Given the description of an element on the screen output the (x, y) to click on. 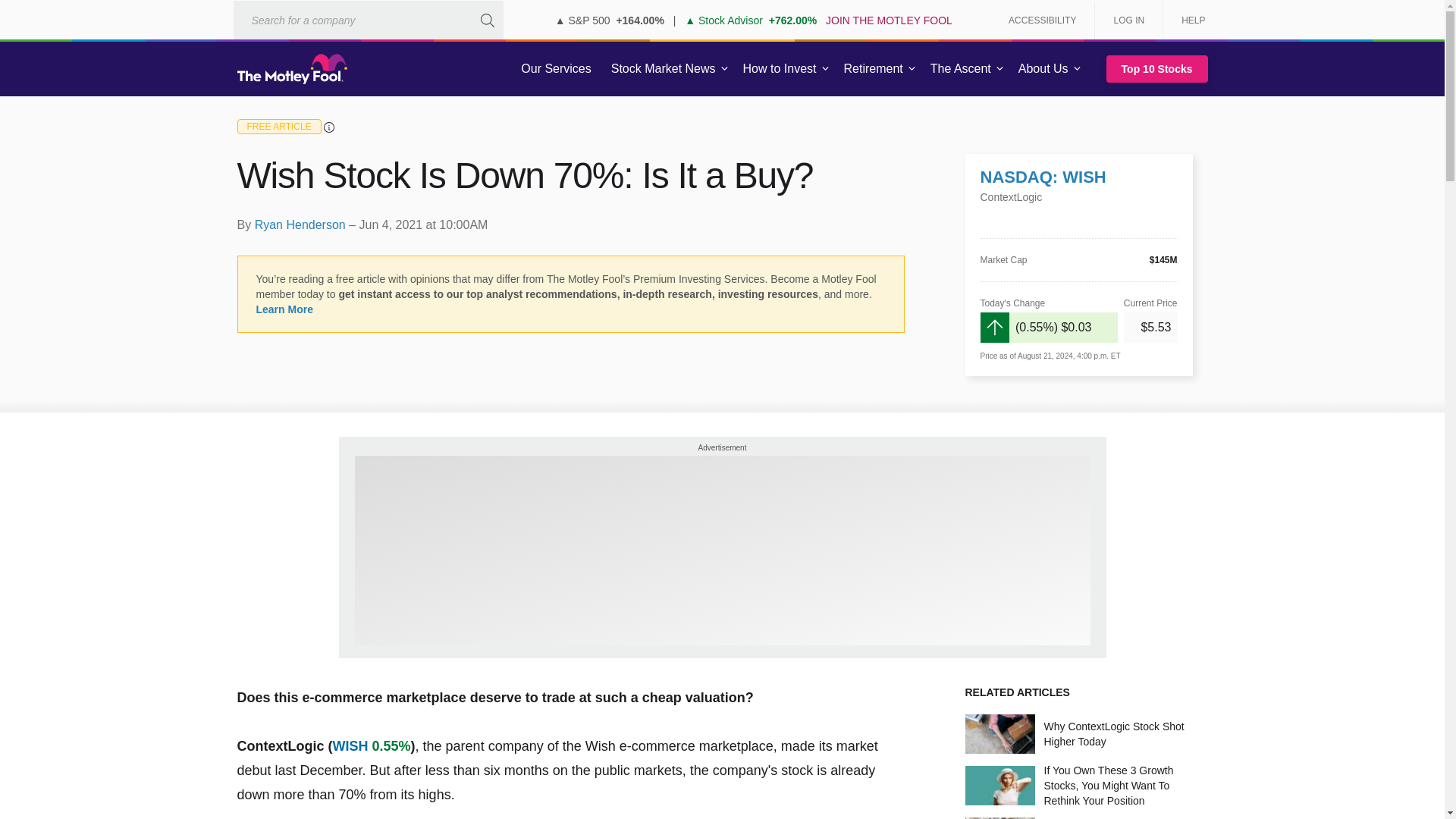
Stock Market News (662, 68)
HELP (1187, 19)
LOG IN (1128, 19)
How to Invest (779, 68)
Our Services (555, 68)
ACCESSIBILITY (1042, 19)
